Given the description of an element on the screen output the (x, y) to click on. 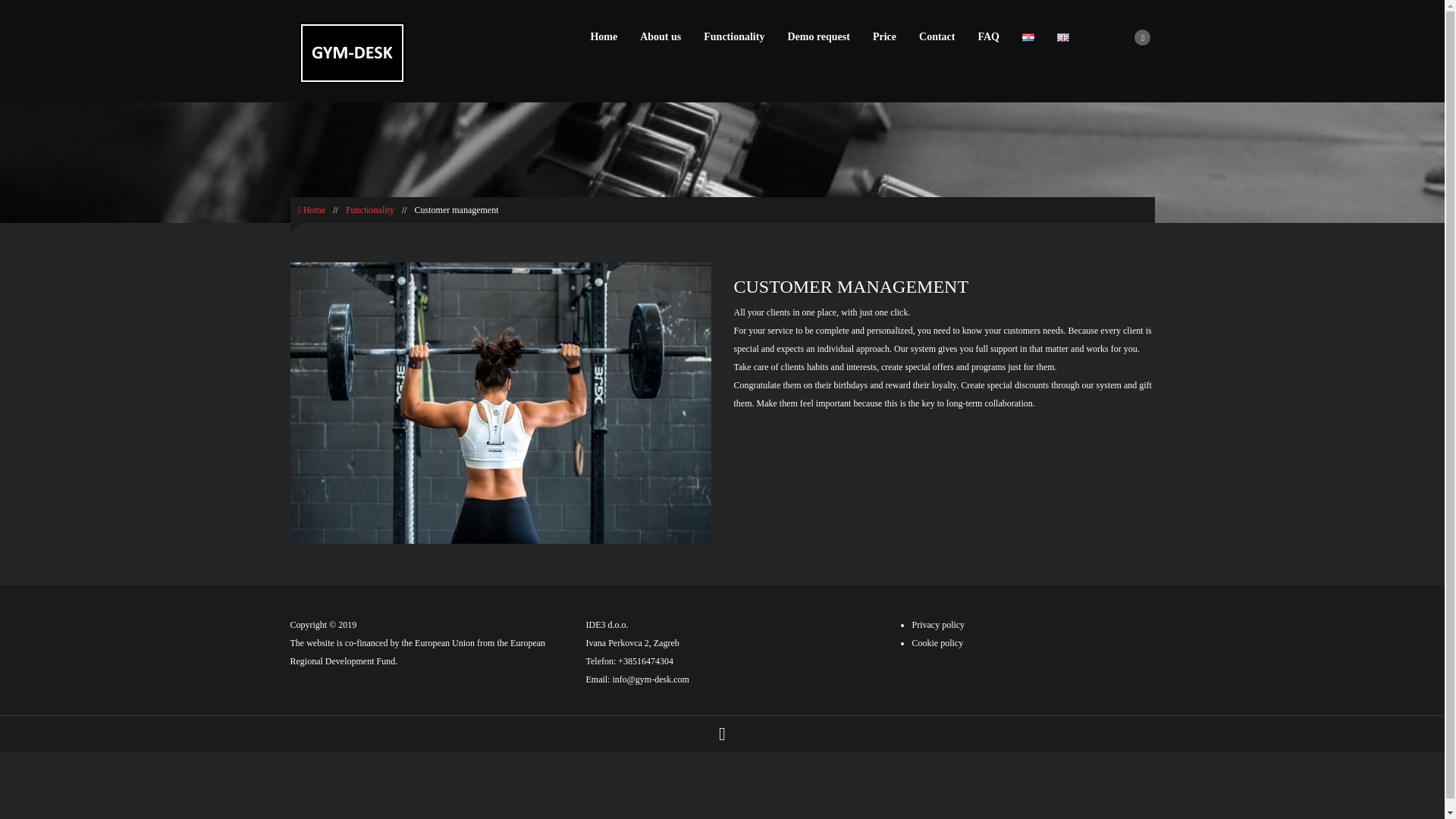
Hrvatski (1027, 37)
Price (884, 36)
English (1062, 37)
Home (603, 36)
Functionality (733, 36)
Demo request (818, 36)
Home (310, 209)
About us (660, 36)
Contact (936, 36)
FAQ (987, 36)
